Given the description of an element on the screen output the (x, y) to click on. 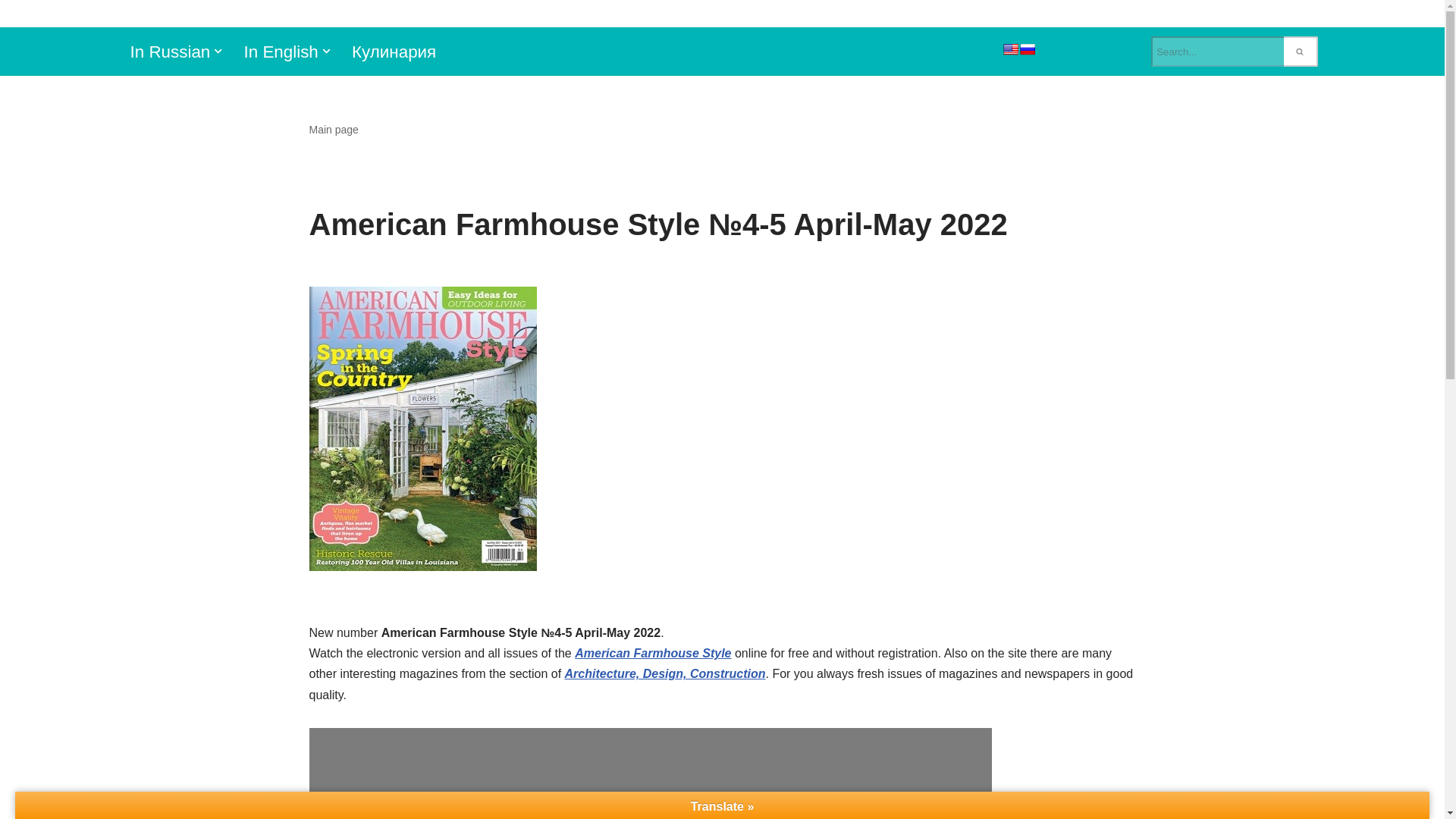
Russian (1026, 49)
English (1010, 49)
In Russian (171, 51)
In English (280, 51)
